Given the description of an element on the screen output the (x, y) to click on. 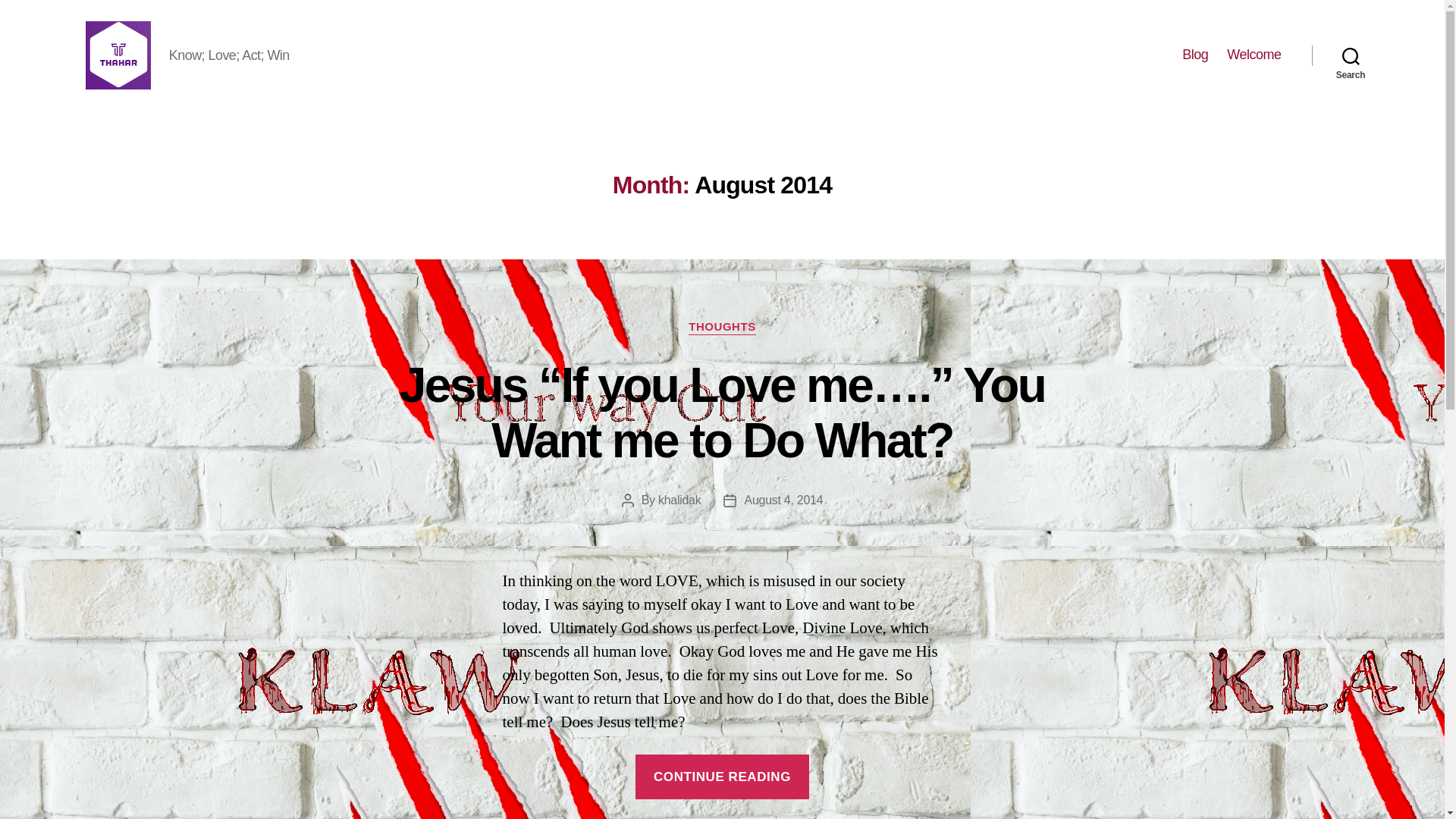
Welcome (1254, 54)
August 4, 2014 (783, 499)
THOUGHTS (721, 327)
khalidak (679, 499)
Search (1350, 55)
Blog (1195, 54)
